Given the description of an element on the screen output the (x, y) to click on. 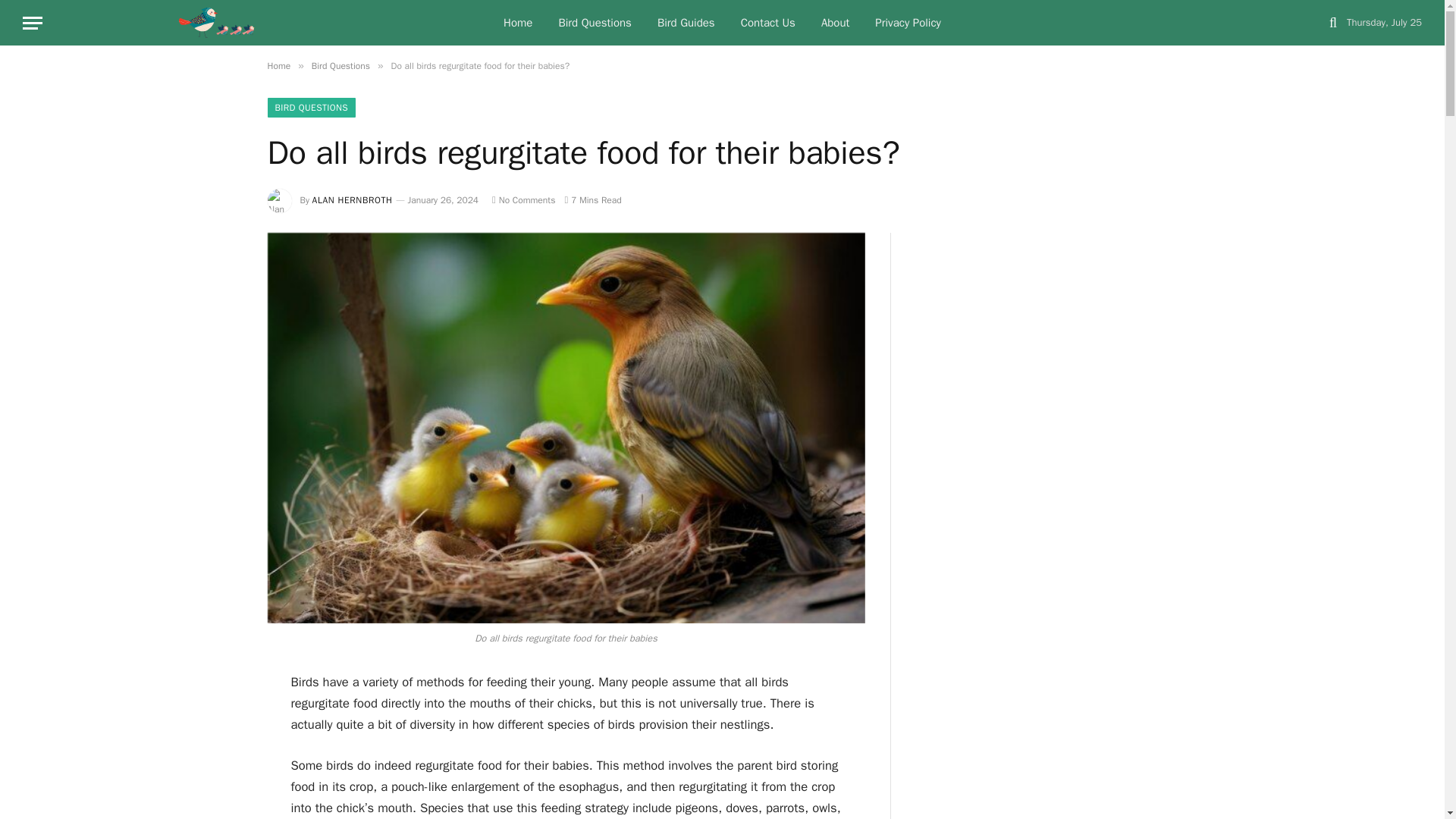
Birdful (216, 22)
Search (1332, 22)
About (834, 22)
No Comments (523, 200)
Privacy Policy (907, 22)
BIRD QUESTIONS (310, 107)
Bird Guides (686, 22)
Home (517, 22)
Bird Questions (593, 22)
ALAN HERNBROTH (353, 200)
Contact Us (768, 22)
Home (277, 65)
Bird Questions (340, 65)
Posts by Alan Hernbroth (353, 200)
